Given the description of an element on the screen output the (x, y) to click on. 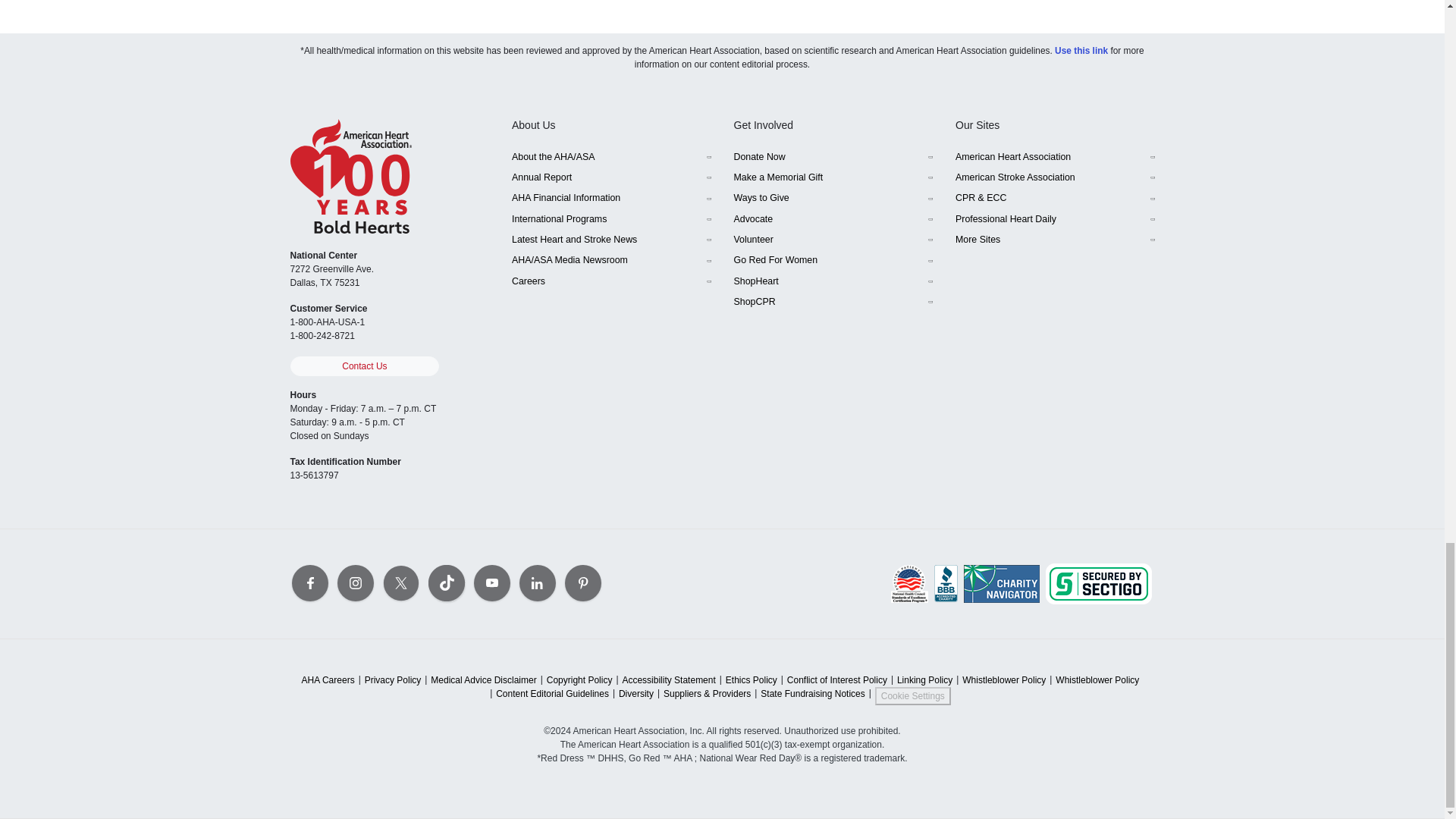
Careers (611, 281)
ShopHeart (833, 281)
Go Red For Women (833, 260)
Donate Now (833, 156)
Annual Report (611, 177)
ShopCPR (833, 301)
Advocate (833, 218)
Latest Heart and Stroke News (611, 240)
AHA Financial Information (611, 198)
Ways to Give (833, 198)
International Programs (611, 218)
American Heart Association (1054, 156)
Volunteer (833, 240)
Make a Memorial Gift (833, 177)
American Stroke Association (1054, 177)
